Given the description of an element on the screen output the (x, y) to click on. 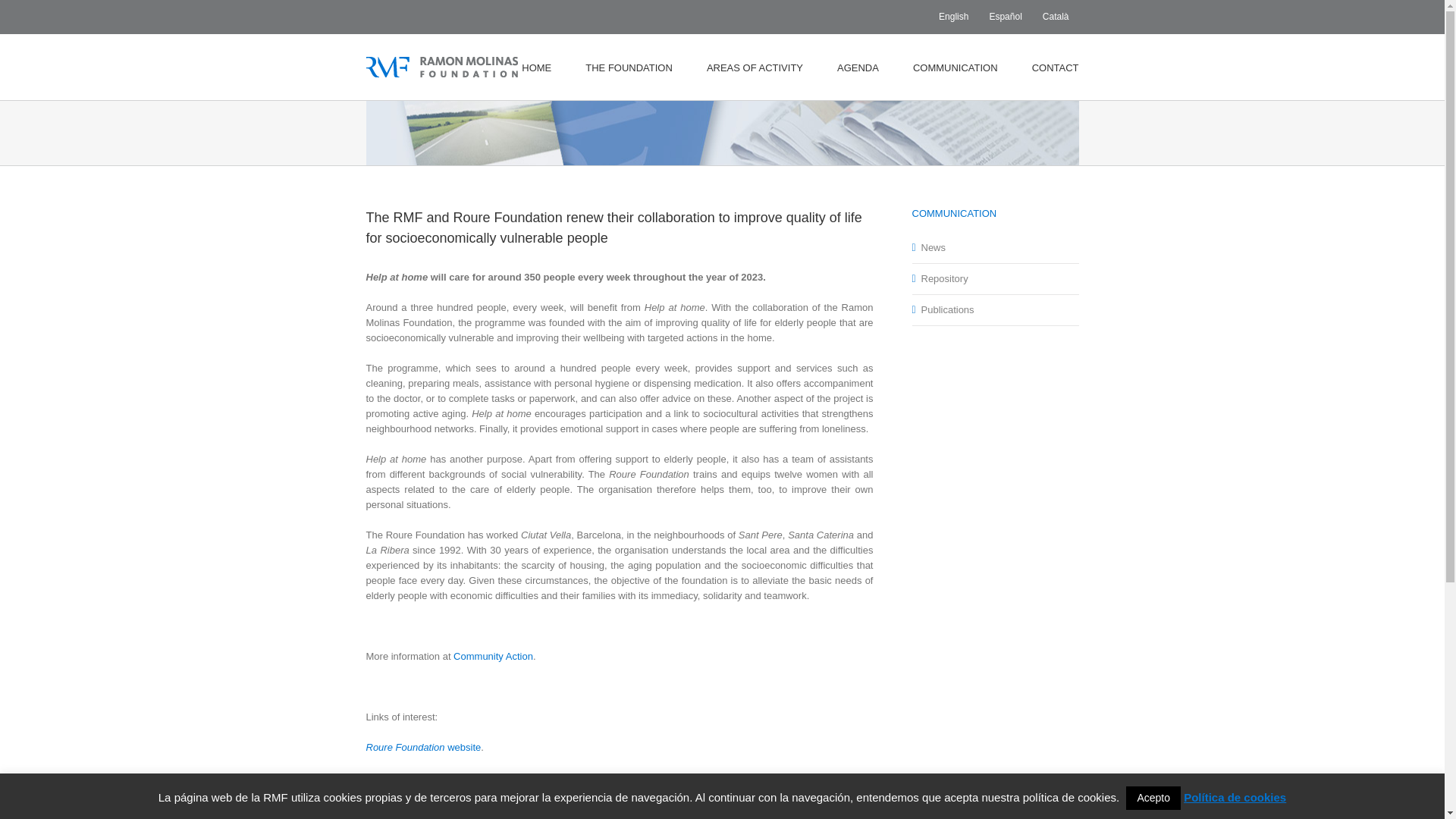
AREAS OF ACTIVITY (754, 66)
THE FOUNDATION (628, 66)
English (953, 16)
COMMUNICATION (954, 66)
